Given the description of an element on the screen output the (x, y) to click on. 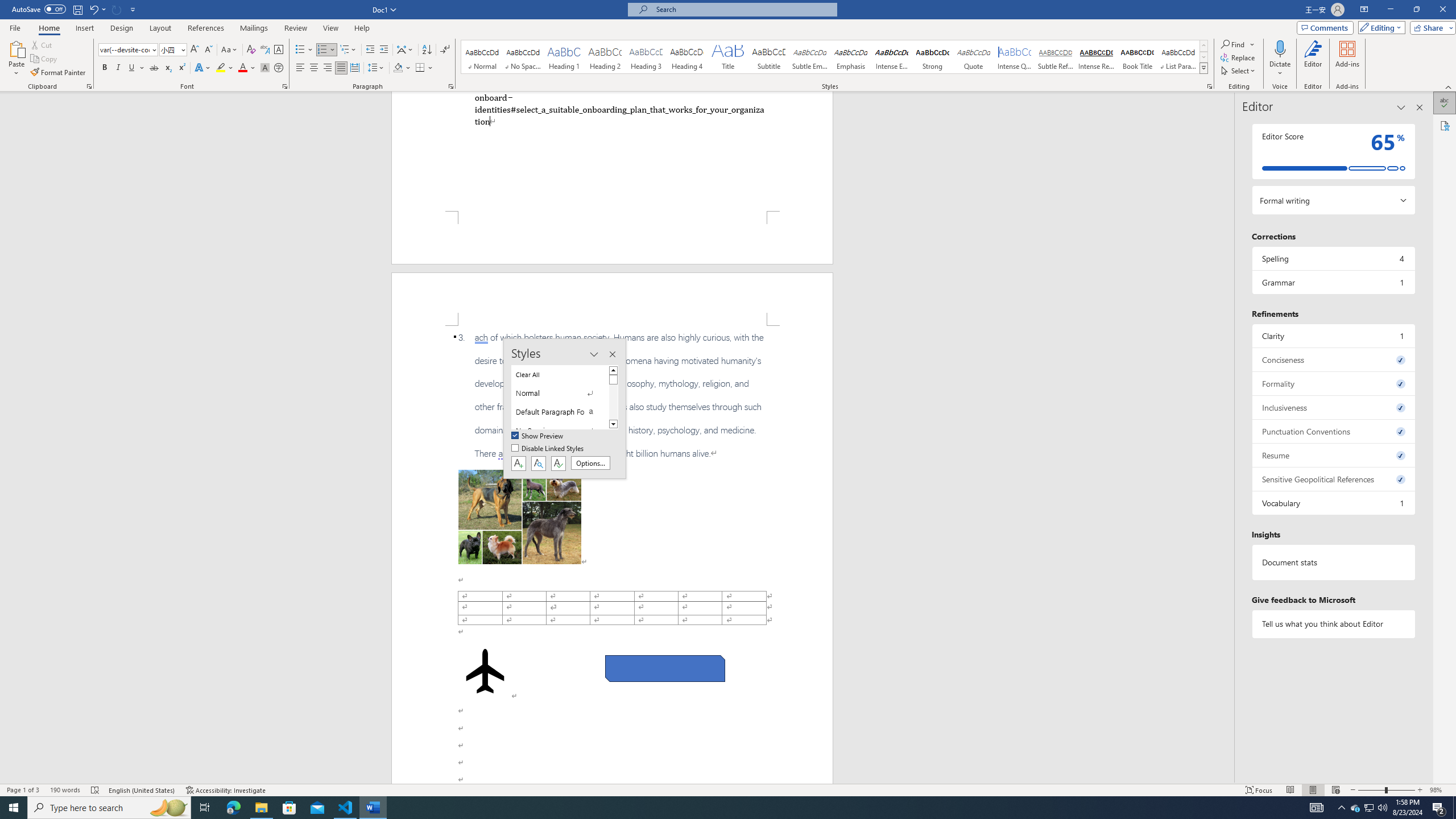
Design (122, 28)
Clarity, 1 issue. Press space or enter to review items. (1333, 335)
Cut (42, 44)
Shrink Font (208, 49)
Zoom In (1420, 790)
File Tab (15, 27)
Quote (973, 56)
Class: NetUIImage (1204, 68)
Increase Indent (383, 49)
Document statistics (1333, 561)
Conciseness, 0 issues. Press space or enter to review items. (1333, 359)
Office Clipboard... (88, 85)
Sort... (426, 49)
Dictate (1280, 48)
